Given the description of an element on the screen output the (x, y) to click on. 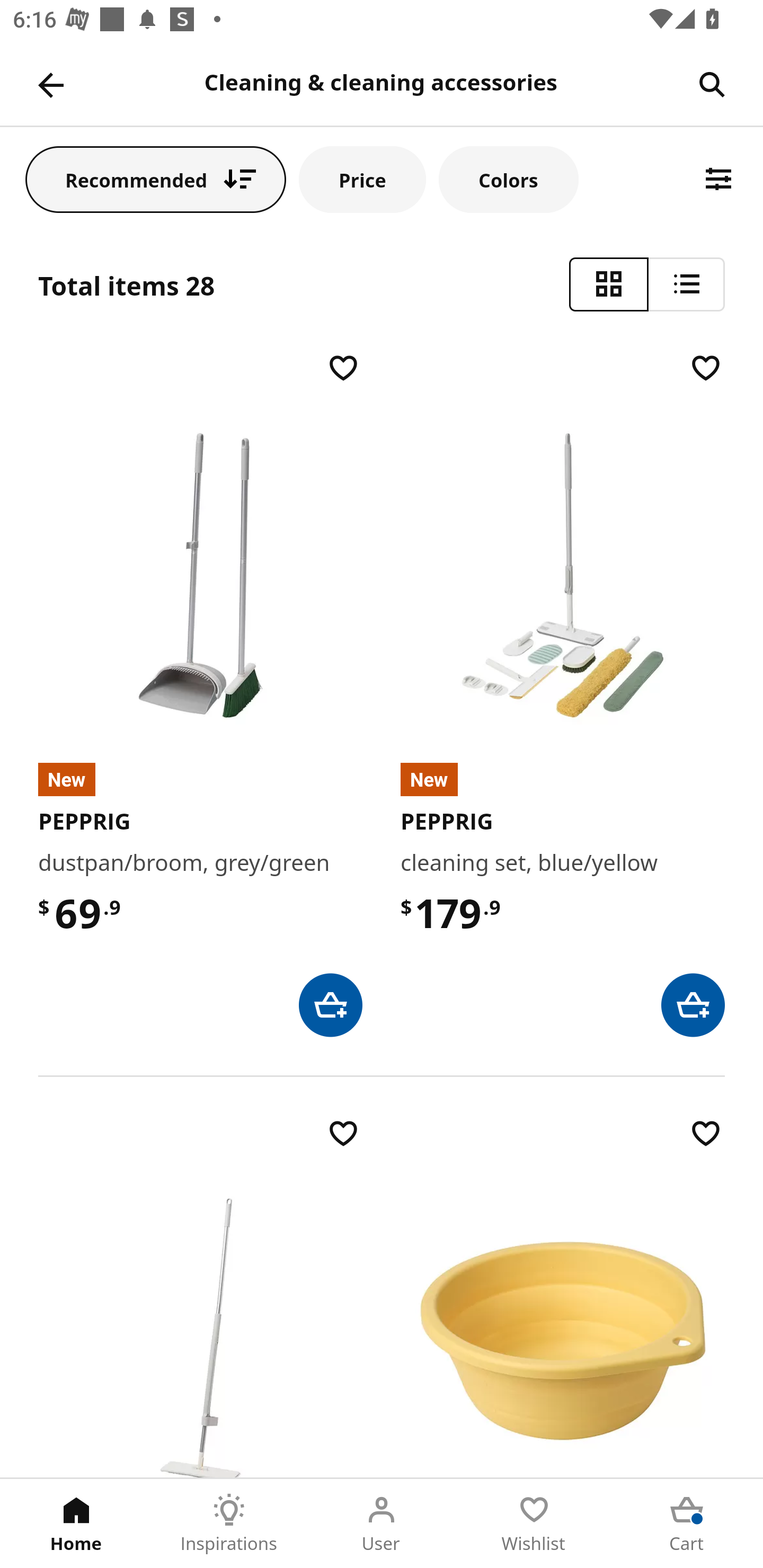
Recommended (155, 179)
Price (362, 179)
Colors (508, 179)
Home
Tab 1 of 5 (76, 1522)
Inspirations
Tab 2 of 5 (228, 1522)
User
Tab 3 of 5 (381, 1522)
Wishlist
Tab 4 of 5 (533, 1522)
Cart
Tab 5 of 5 (686, 1522)
